Given the description of an element on the screen output the (x, y) to click on. 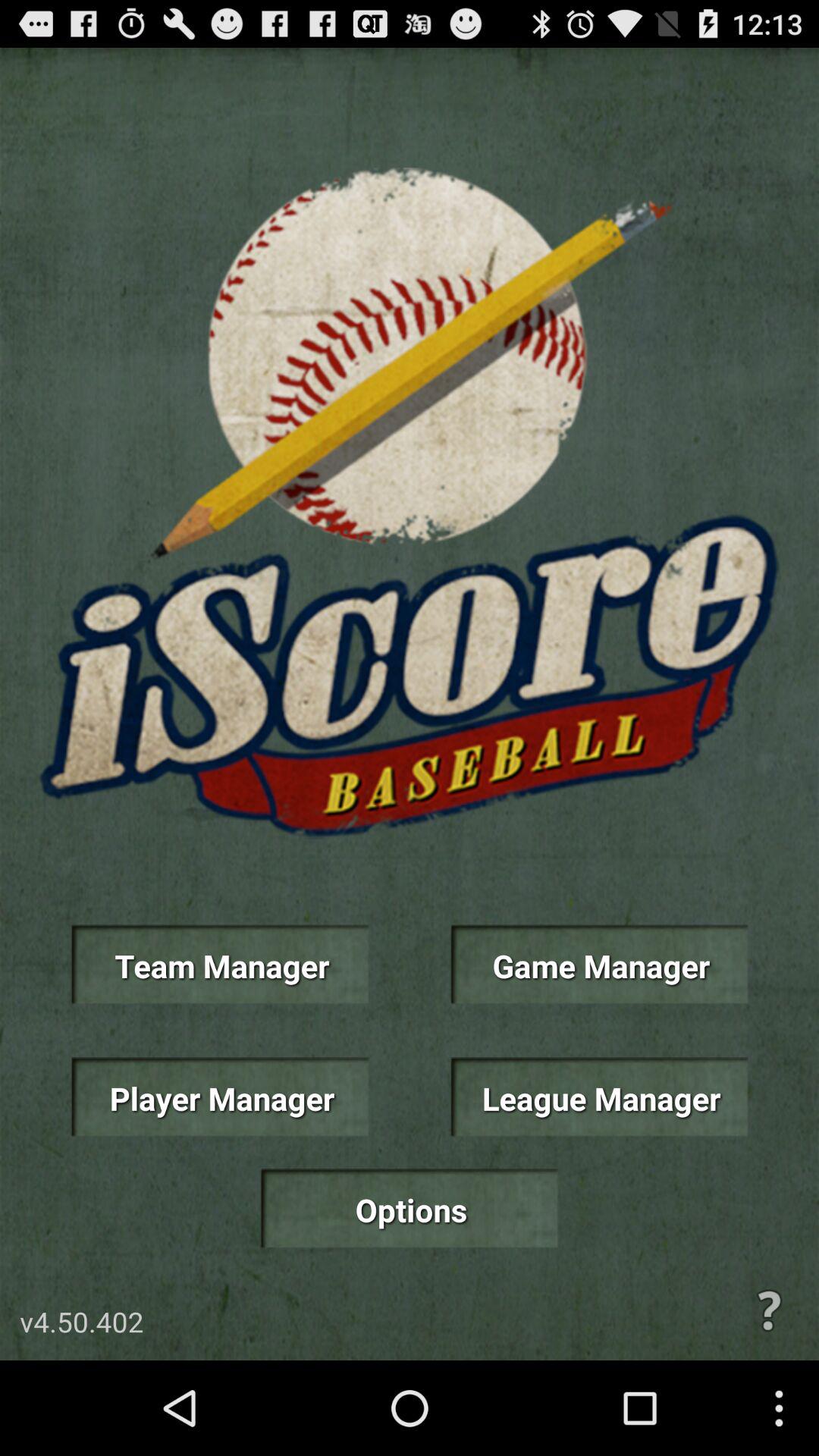
help (769, 1310)
